Given the description of an element on the screen output the (x, y) to click on. 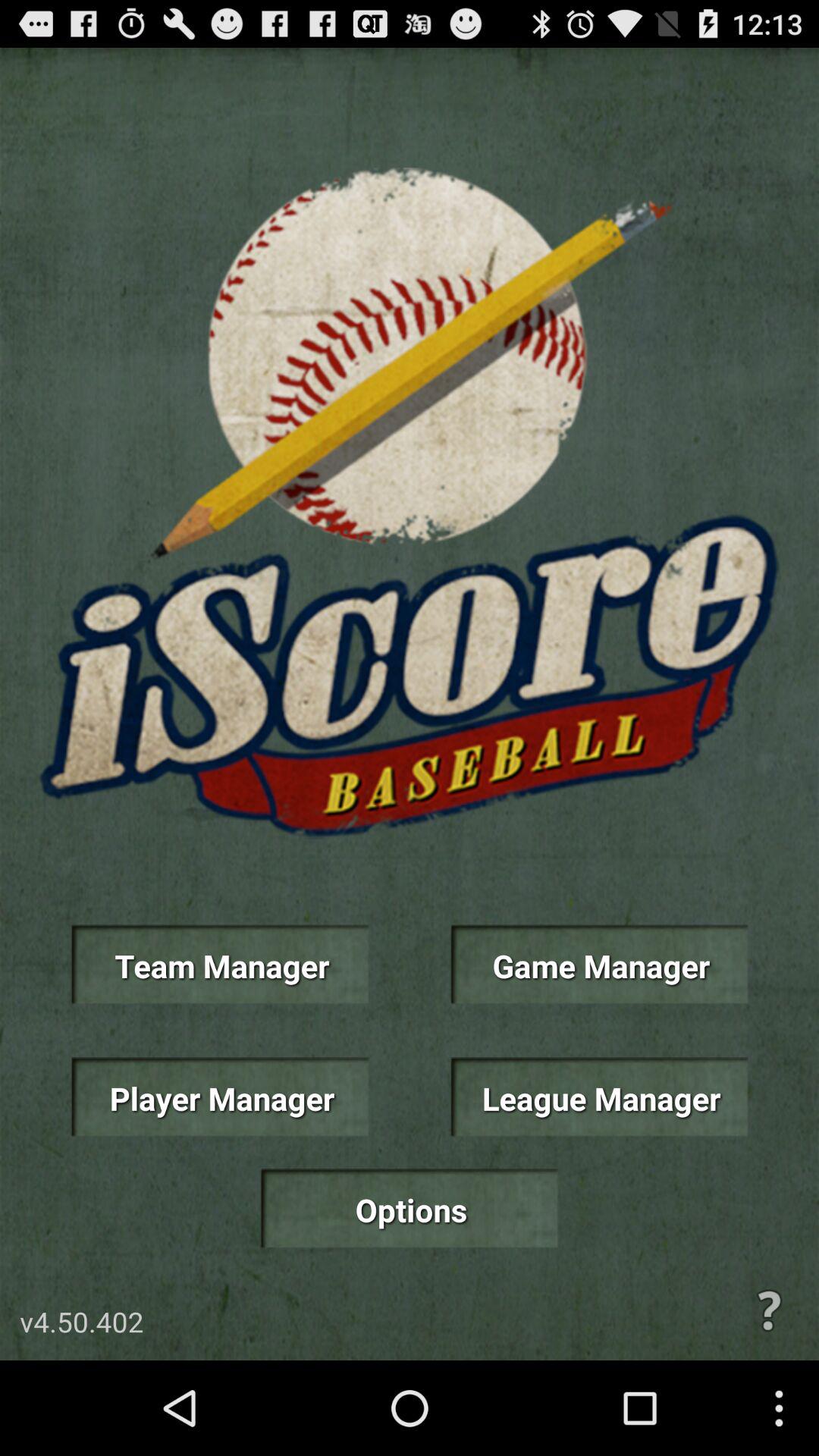
help (769, 1310)
